Given the description of an element on the screen output the (x, y) to click on. 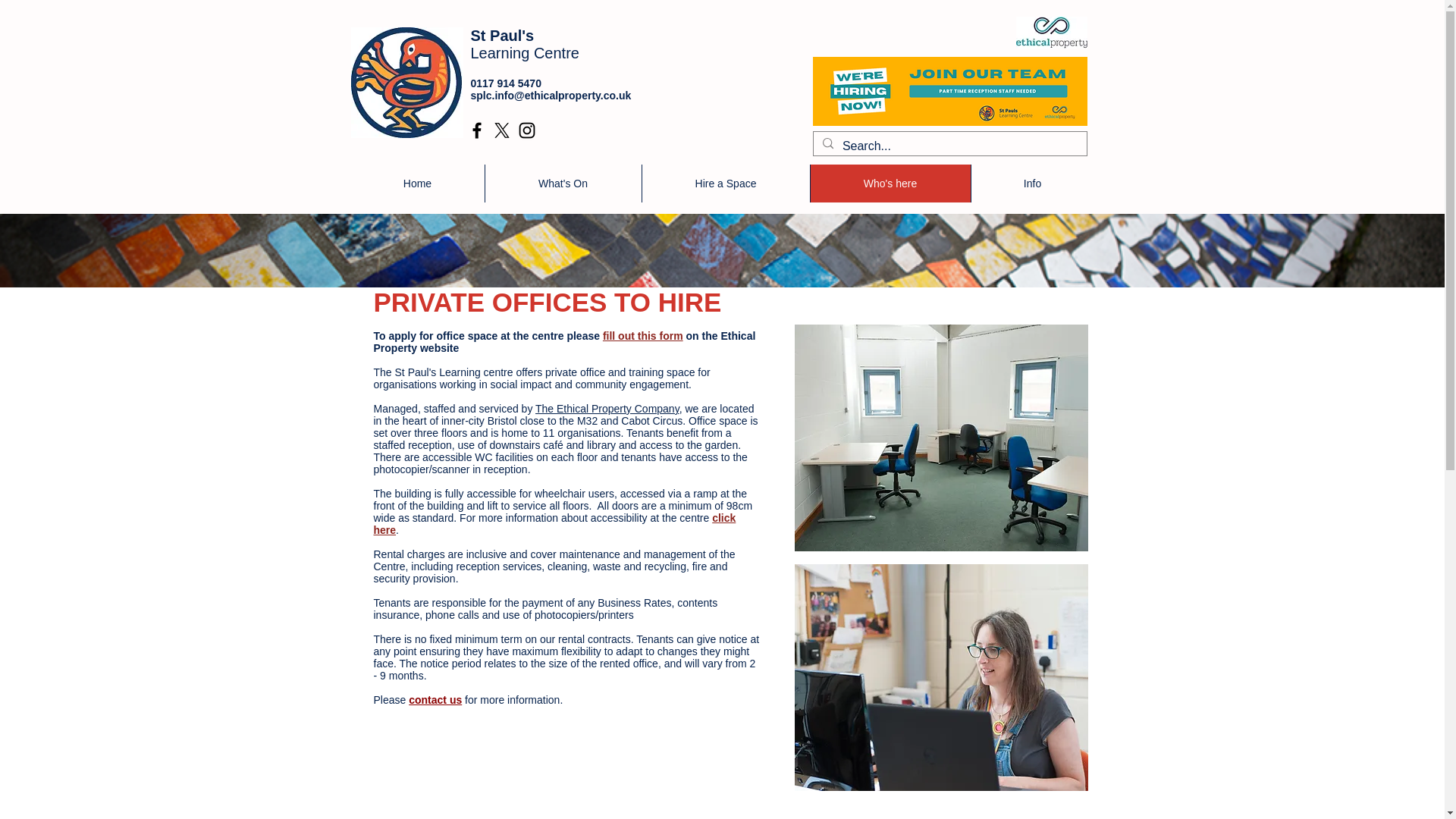
Hire a Space (725, 183)
Info (1032, 183)
St Paul's (502, 35)
Home (416, 183)
Learning Centre (524, 53)
What's On (561, 183)
Who's here (890, 183)
